Given the description of an element on the screen output the (x, y) to click on. 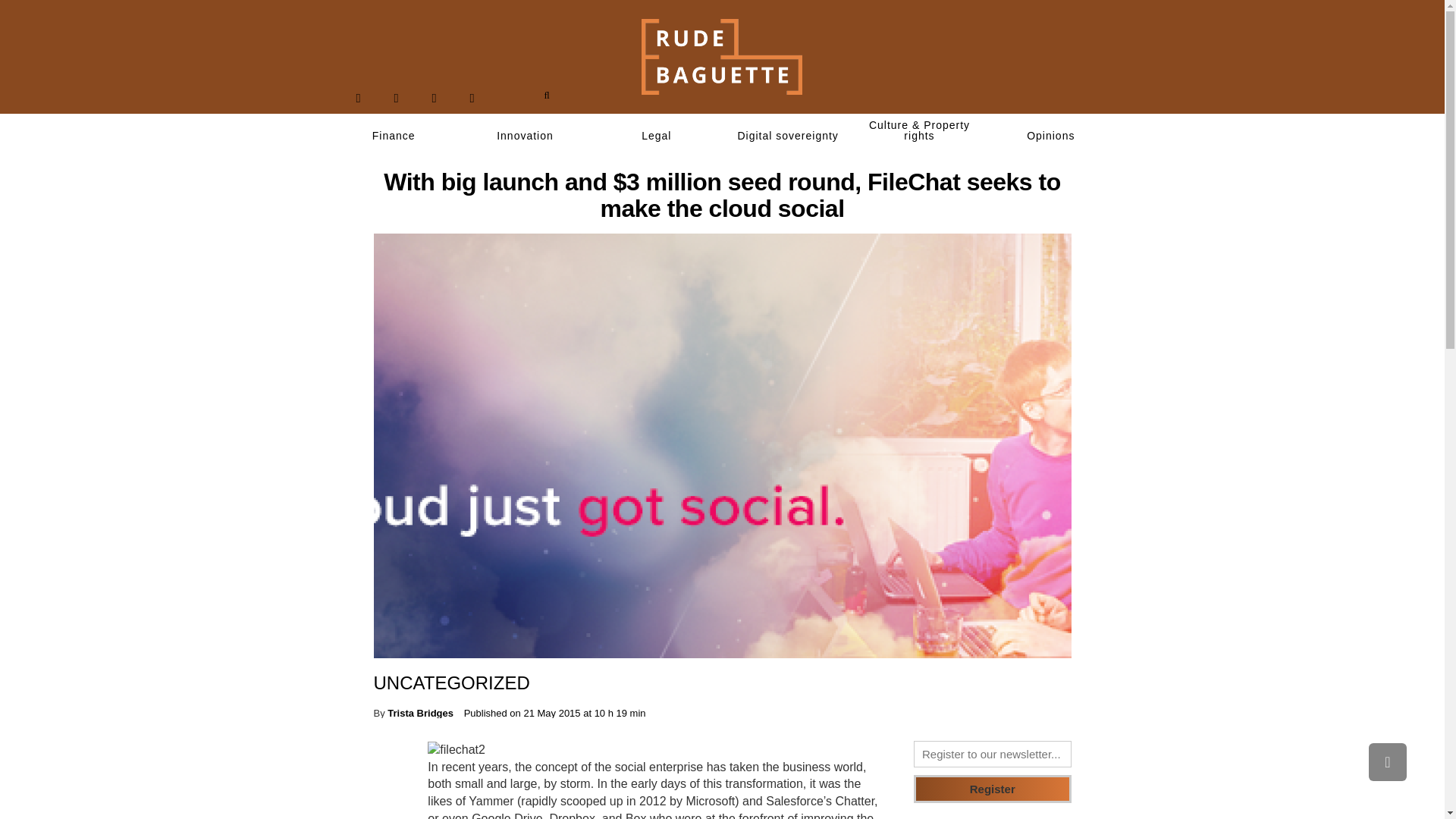
Twitter (396, 97)
Posts by Trista Bridges (419, 713)
Finance (393, 135)
Legal (656, 135)
Register (992, 788)
Facebook (358, 97)
Opinions (1051, 135)
Scroll to top (1387, 761)
Register (992, 788)
21 May 2015 at 10 h 19 min (583, 713)
Trista Bridges (419, 713)
Innovation (524, 135)
Scroll to top (1387, 761)
Scroll to top (1387, 761)
Digital sovereignty (787, 135)
